Given the description of an element on the screen output the (x, y) to click on. 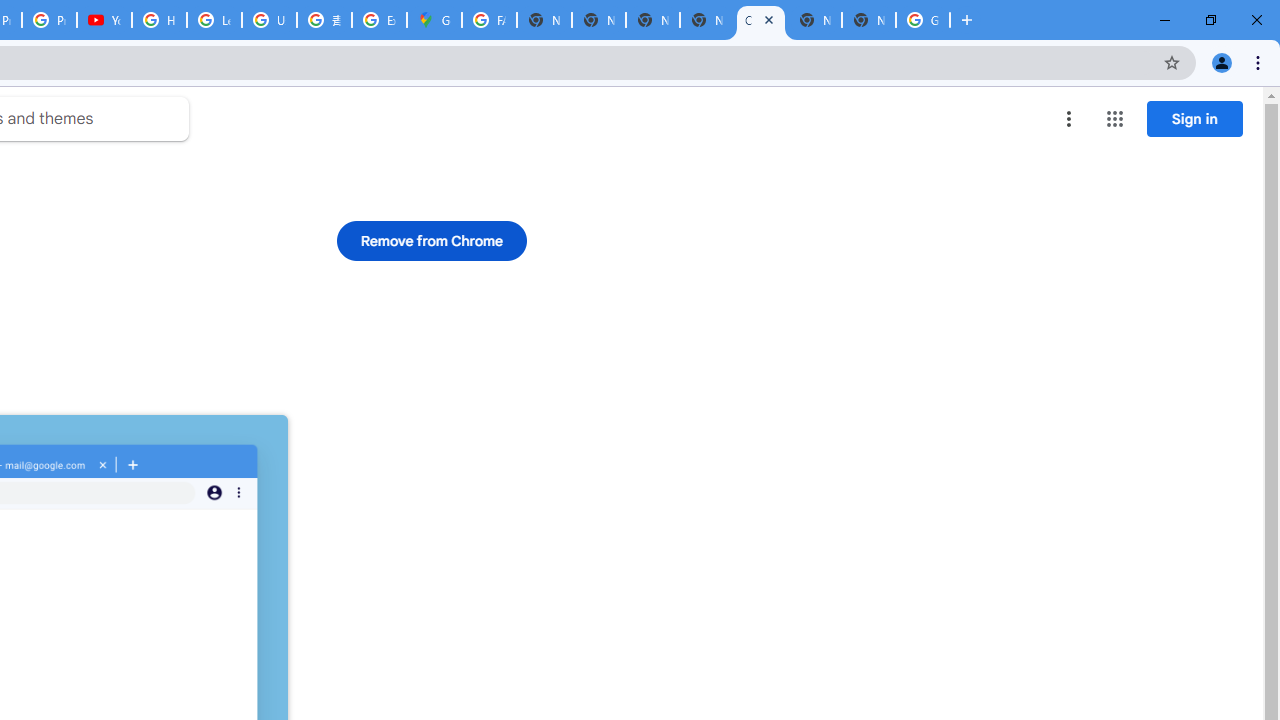
How Chrome protects your passwords - Google Chrome Help (158, 20)
More options menu (1069, 118)
Remove from Chrome (431, 240)
New Tab (868, 20)
Google Maps (434, 20)
Privacy Checkup (48, 20)
